Given the description of an element on the screen output the (x, y) to click on. 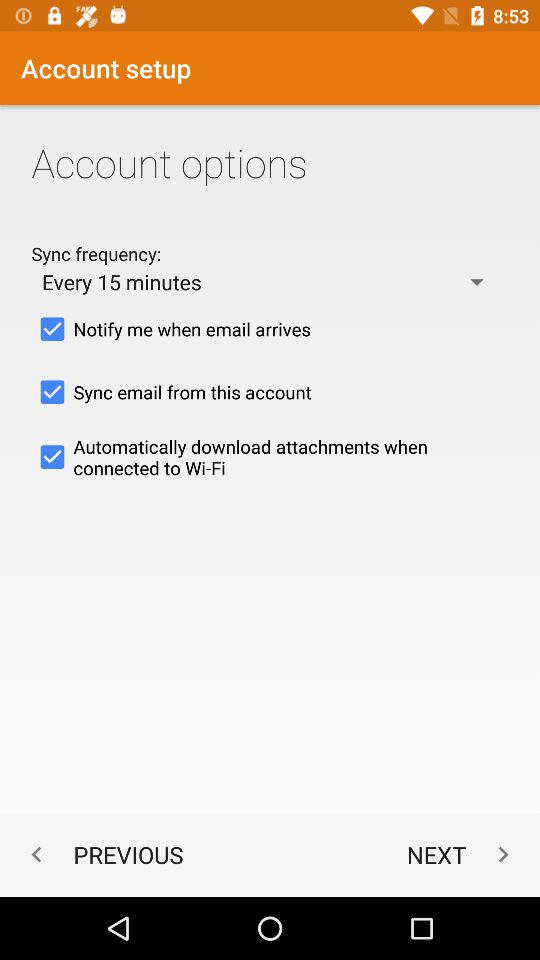
turn off the item above the automatically download attachments icon (269, 392)
